Given the description of an element on the screen output the (x, y) to click on. 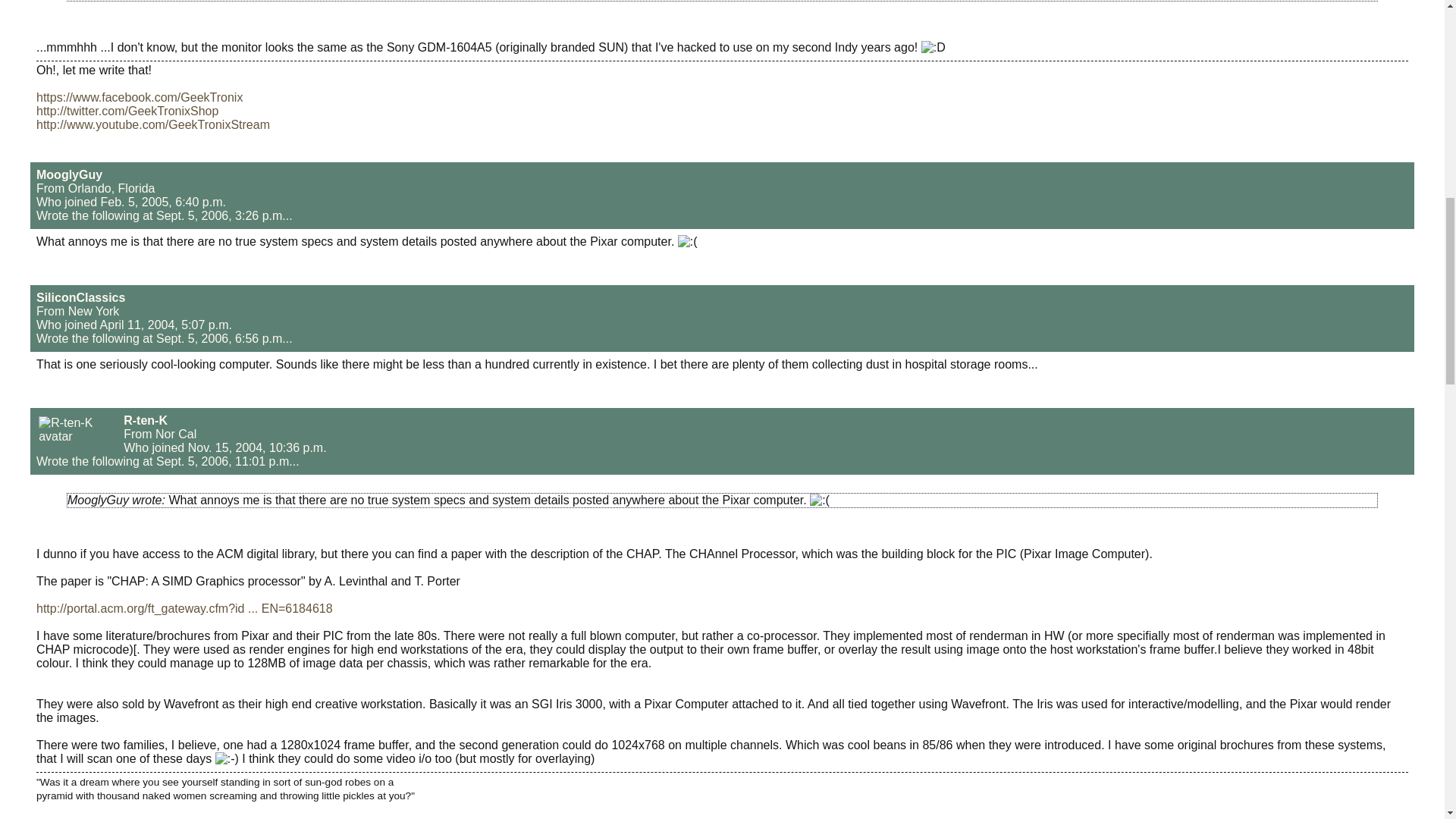
Smile (226, 758)
Sad (687, 241)
MooglyGuy (68, 174)
Sad (819, 499)
SiliconClassics (80, 297)
Very Happy (932, 47)
R-ten-K (145, 420)
